Given the description of an element on the screen output the (x, y) to click on. 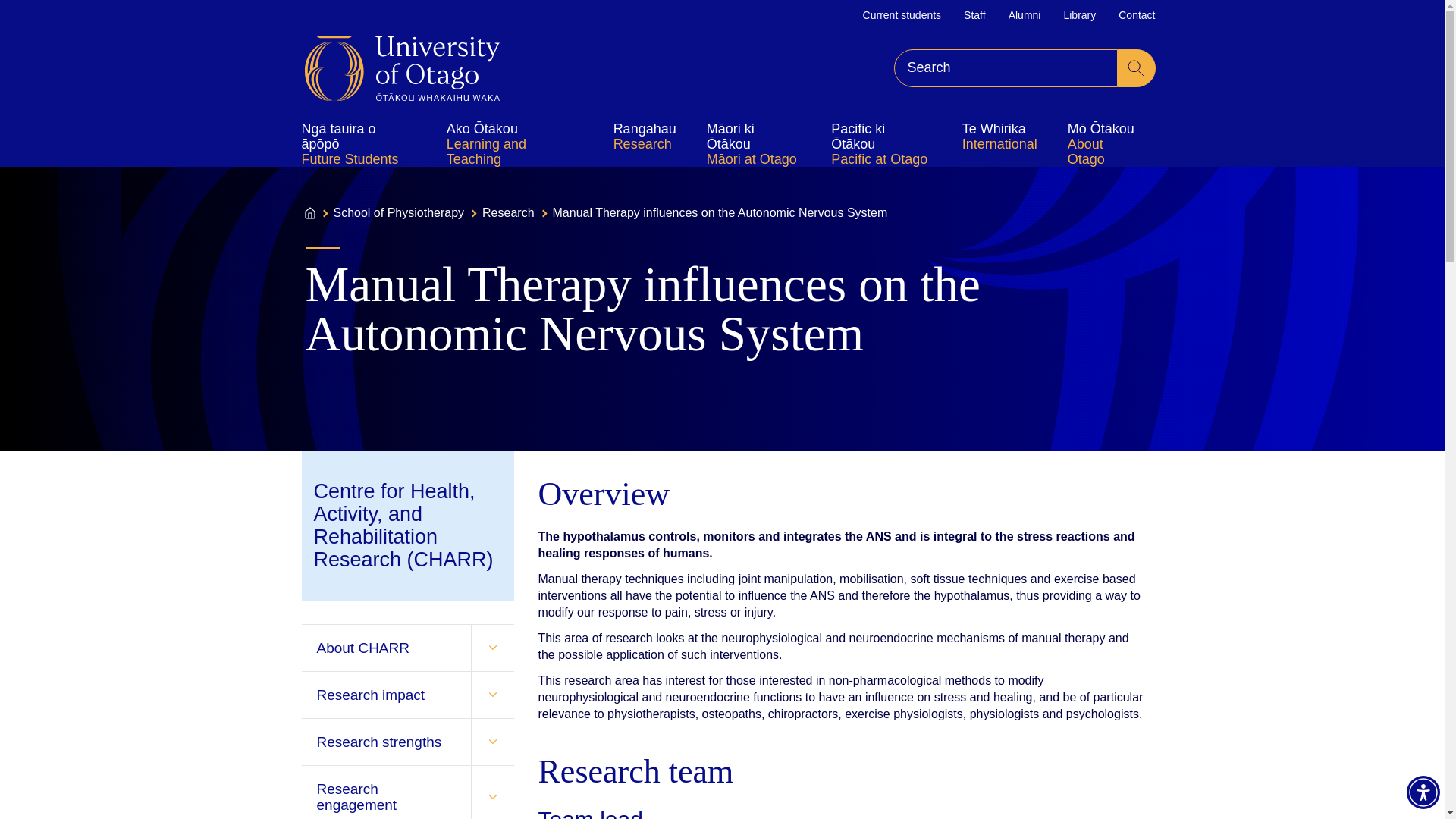
Staff (974, 15)
Accessibility Menu (1422, 792)
Current students (902, 15)
Library (1079, 15)
Contact (1136, 15)
Home (402, 68)
Alumni (1025, 15)
